Given the description of an element on the screen output the (x, y) to click on. 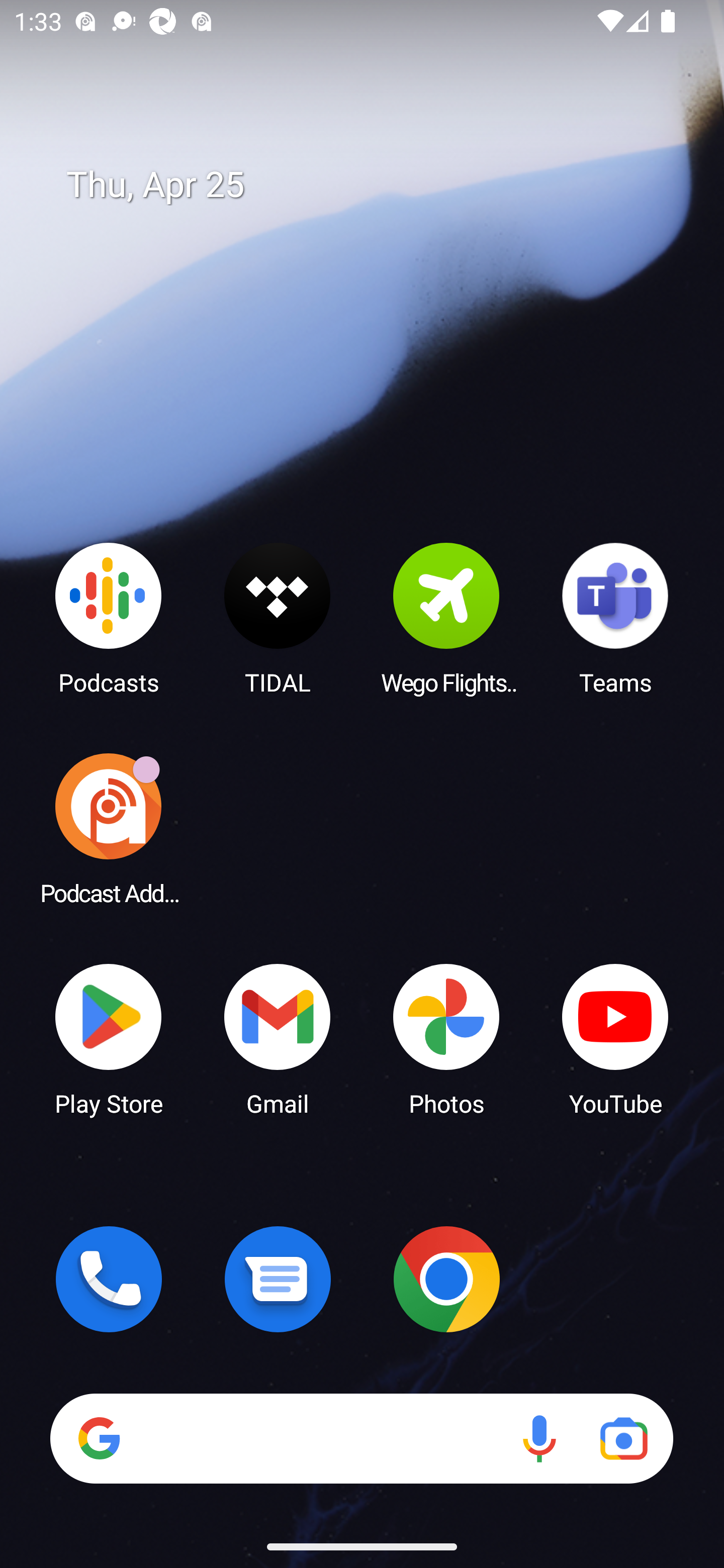
Thu, Apr 25 (375, 184)
Podcasts (108, 617)
TIDAL (277, 617)
Wego Flights & Hotels (445, 617)
Teams (615, 617)
Play Store (108, 1038)
Gmail (277, 1038)
Photos (445, 1038)
YouTube (615, 1038)
Phone (108, 1279)
Messages (277, 1279)
Chrome (446, 1279)
Search Voice search Google Lens (361, 1438)
Voice search (539, 1438)
Google Lens (623, 1438)
